Given the description of an element on the screen output the (x, y) to click on. 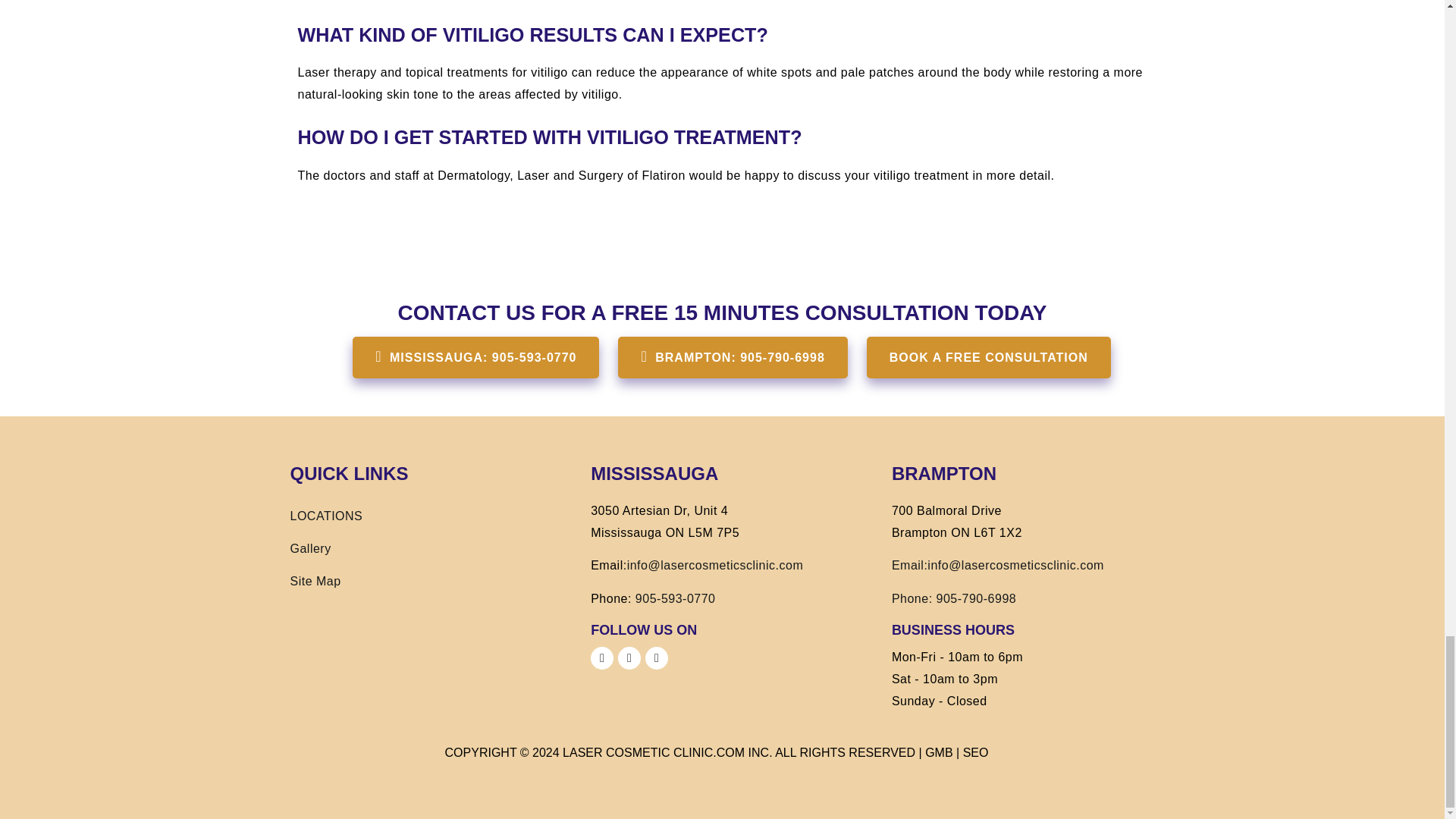
Laser Cosmetic Clinic (637, 752)
